Given the description of an element on the screen output the (x, y) to click on. 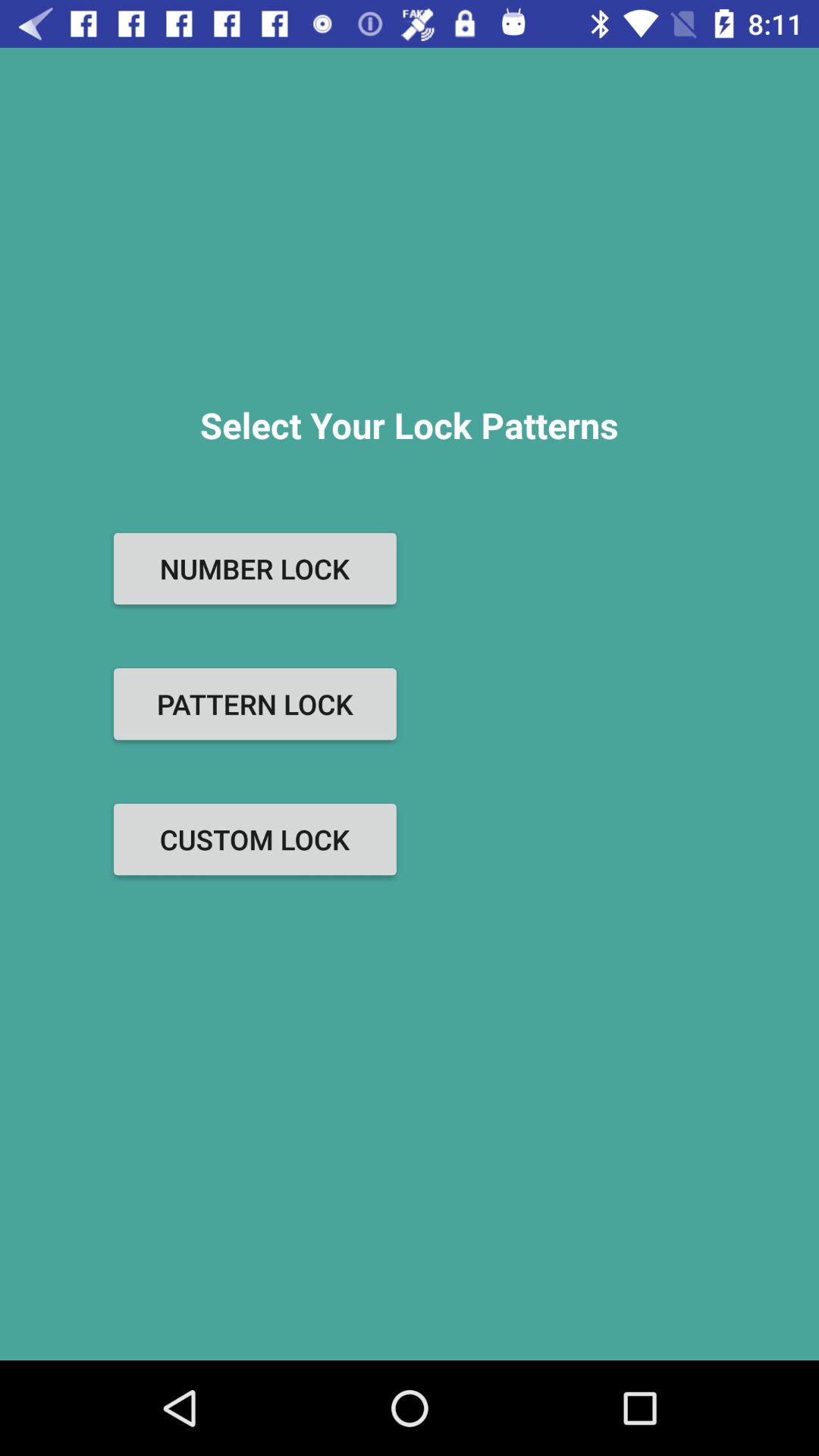
select the button below pattern lock icon (254, 839)
